Given the description of an element on the screen output the (x, y) to click on. 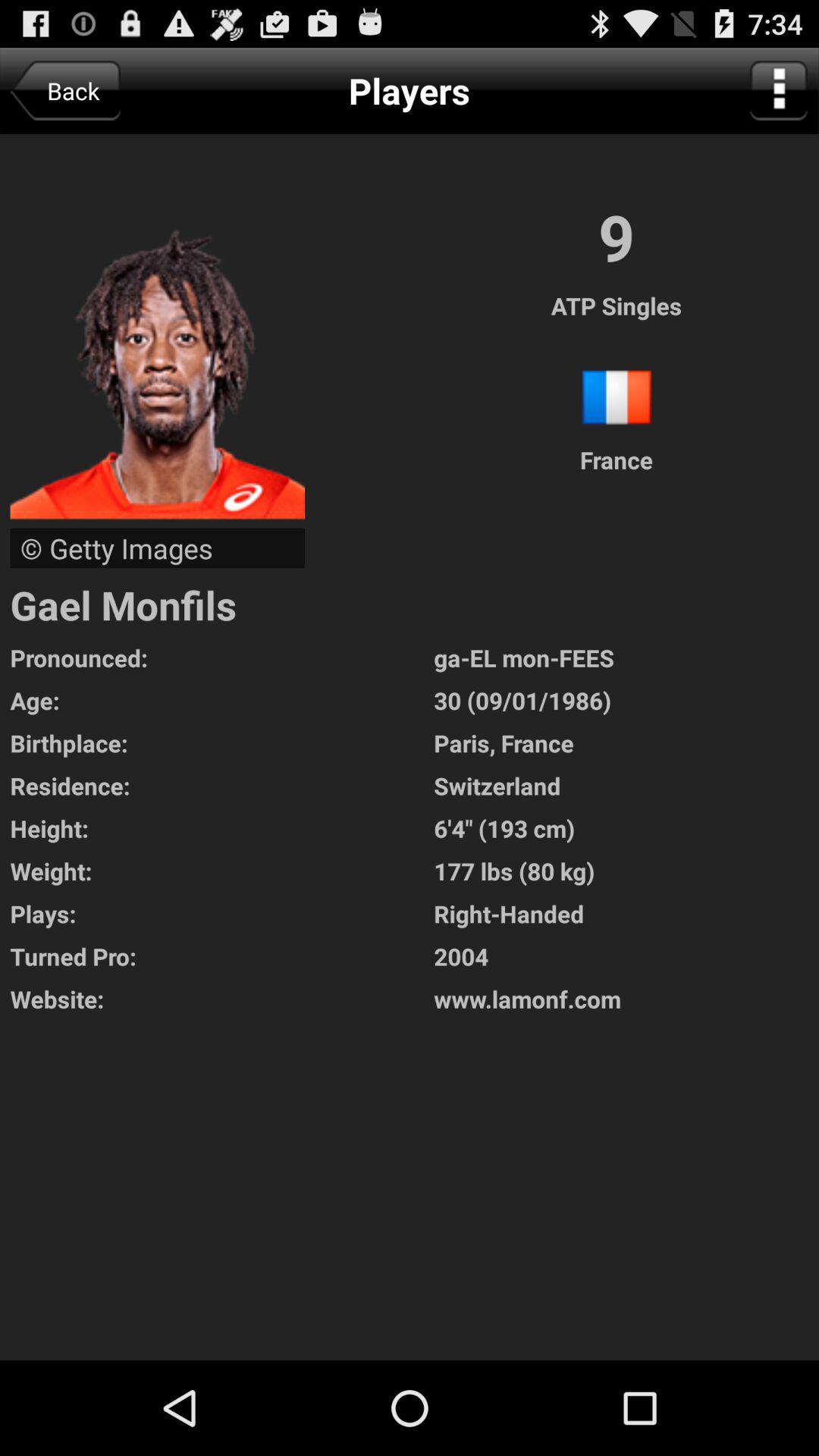
turn off app below the height: icon (221, 870)
